Given the description of an element on the screen output the (x, y) to click on. 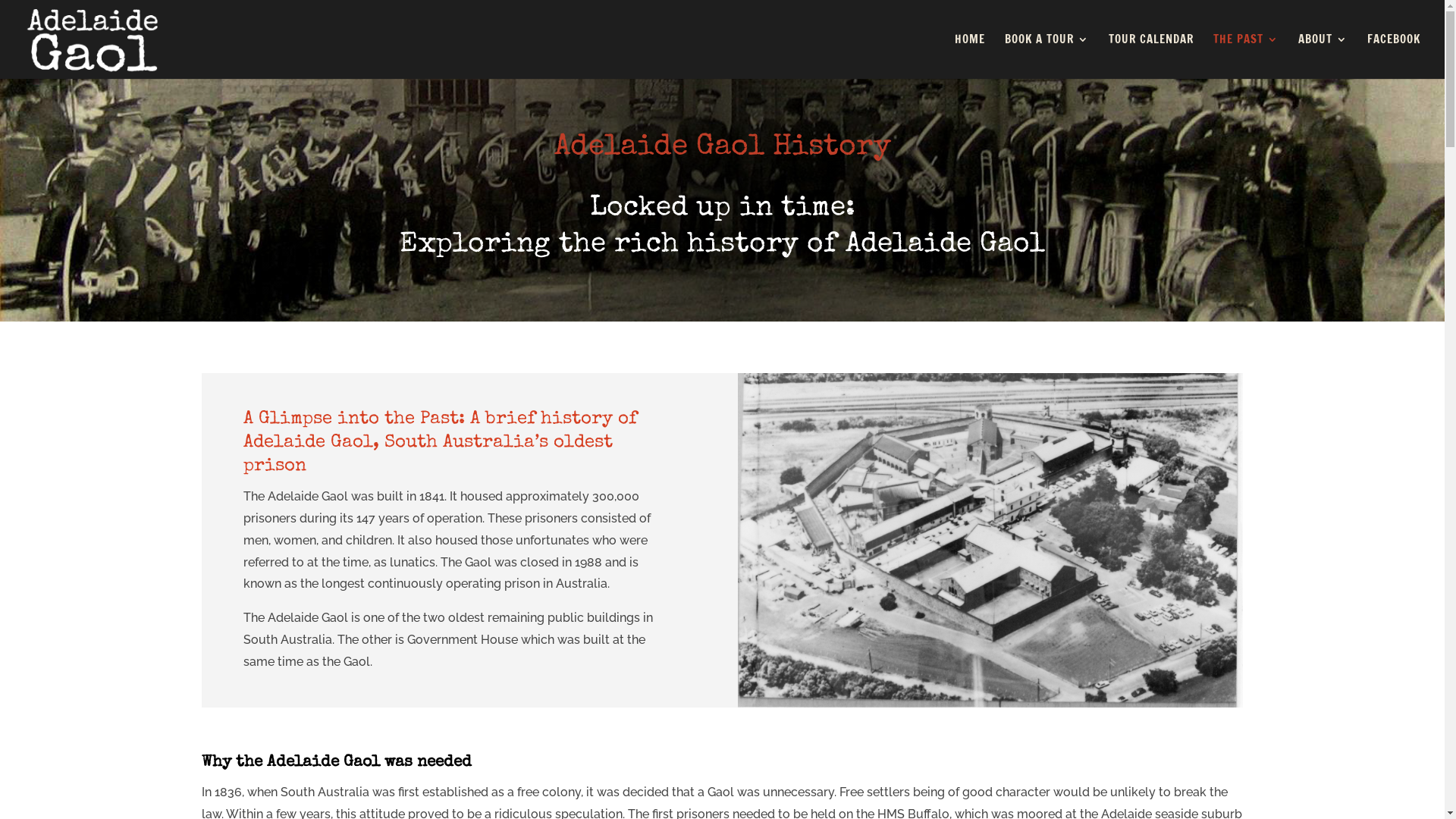
ABOUT Element type: text (1322, 56)
TOUR CALENDAR Element type: text (1150, 56)
FACEBOOK Element type: text (1393, 56)
BOOK A TOUR Element type: text (1046, 56)
HOME Element type: text (969, 56)
19840000 Aerial View Element type: hover (989, 539)
THE PAST Element type: text (1245, 56)
